Given the description of an element on the screen output the (x, y) to click on. 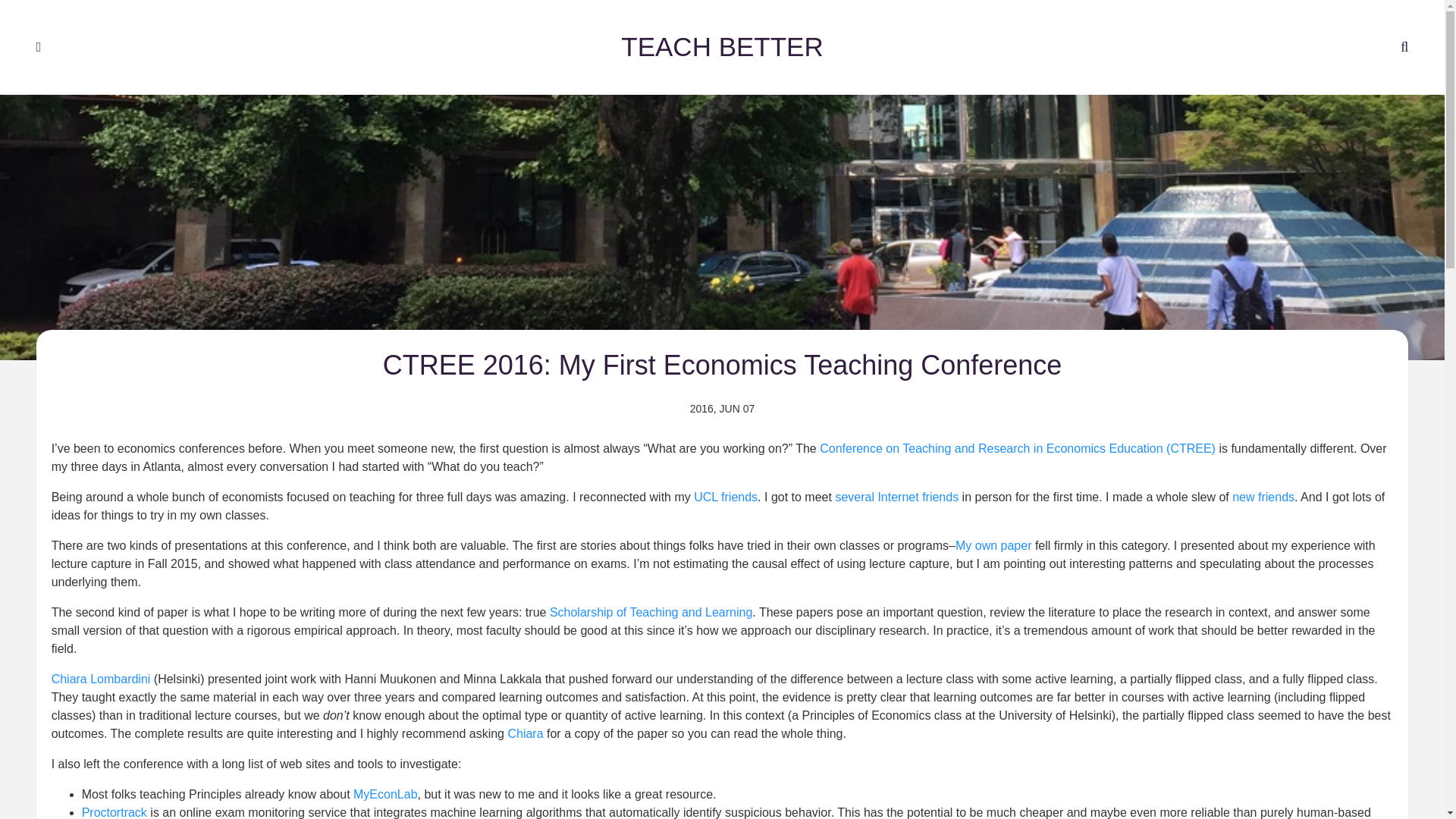
Chiara (524, 719)
Proctortrack (114, 802)
Chiara Lombardini (100, 664)
MyEconLab (385, 781)
Scholarship of Teaching and Learning (651, 596)
